Given the description of an element on the screen output the (x, y) to click on. 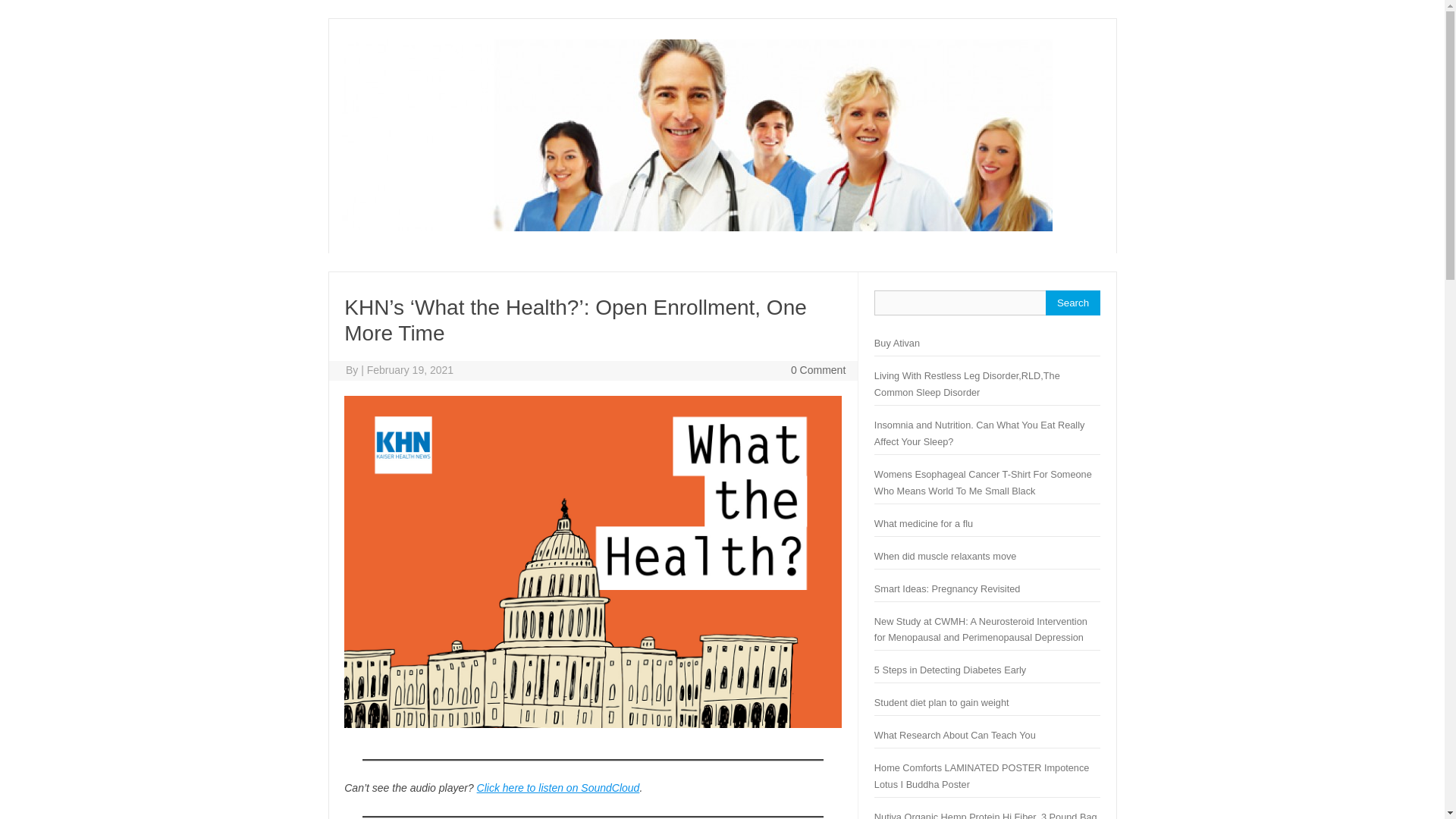
Search (1072, 302)
What medicine for a flu (923, 523)
5 Steps in Detecting Diabetes Early (950, 669)
Search (1072, 302)
Health (695, 227)
Smart Ideas: Pregnancy Revisited (947, 588)
Student diet plan to gain weight (942, 702)
0 Comment (817, 369)
Buy Ativan (897, 342)
